Given the description of an element on the screen output the (x, y) to click on. 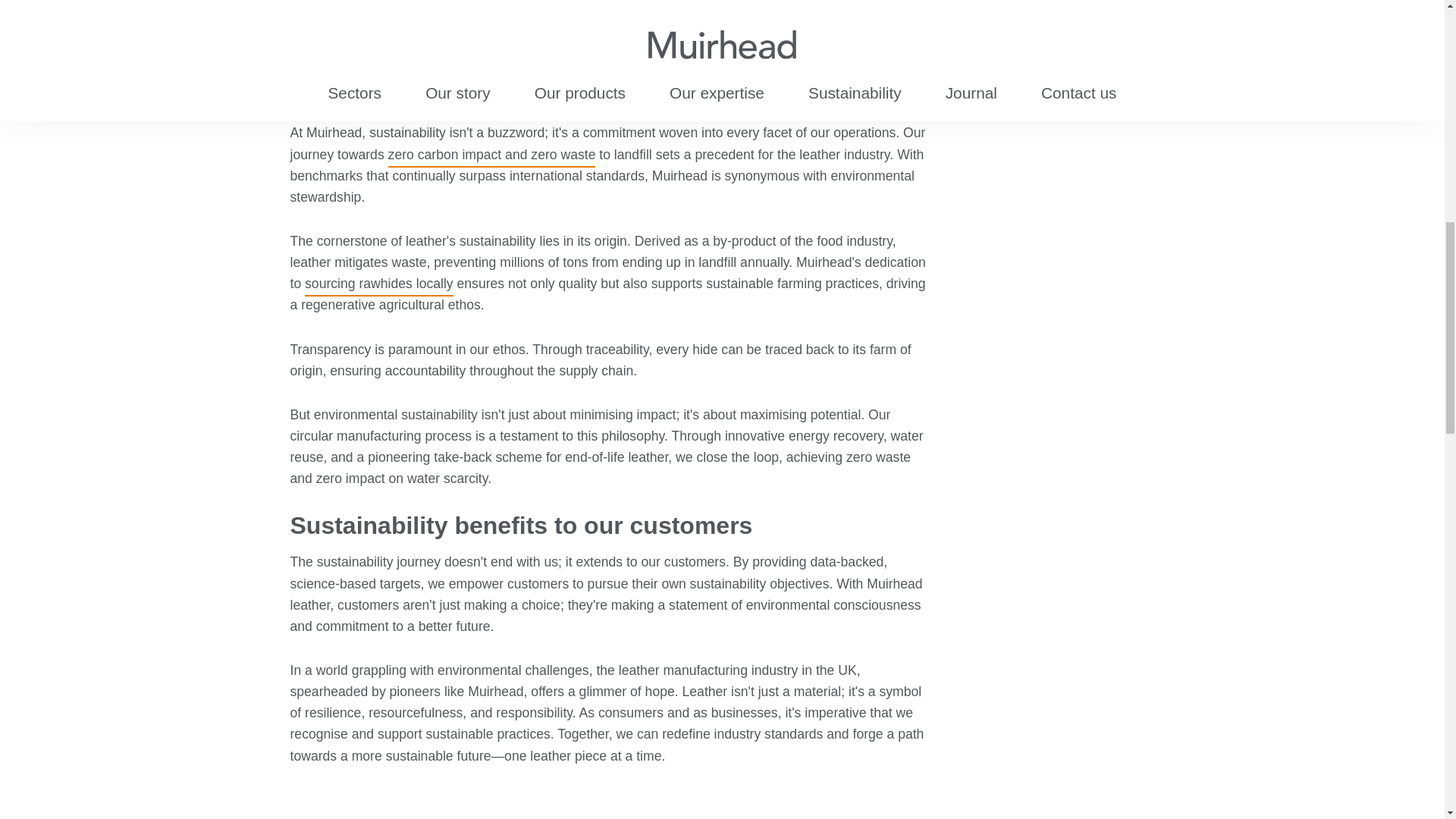
sourcing rawhides locally (378, 283)
zero carbon impact and zero waste (491, 157)
Is Leather Sustainable? (600, 5)
Zero Waste (491, 157)
Is Leather Sustainable (600, 5)
Local Sourcing (378, 283)
